Given the description of an element on the screen output the (x, y) to click on. 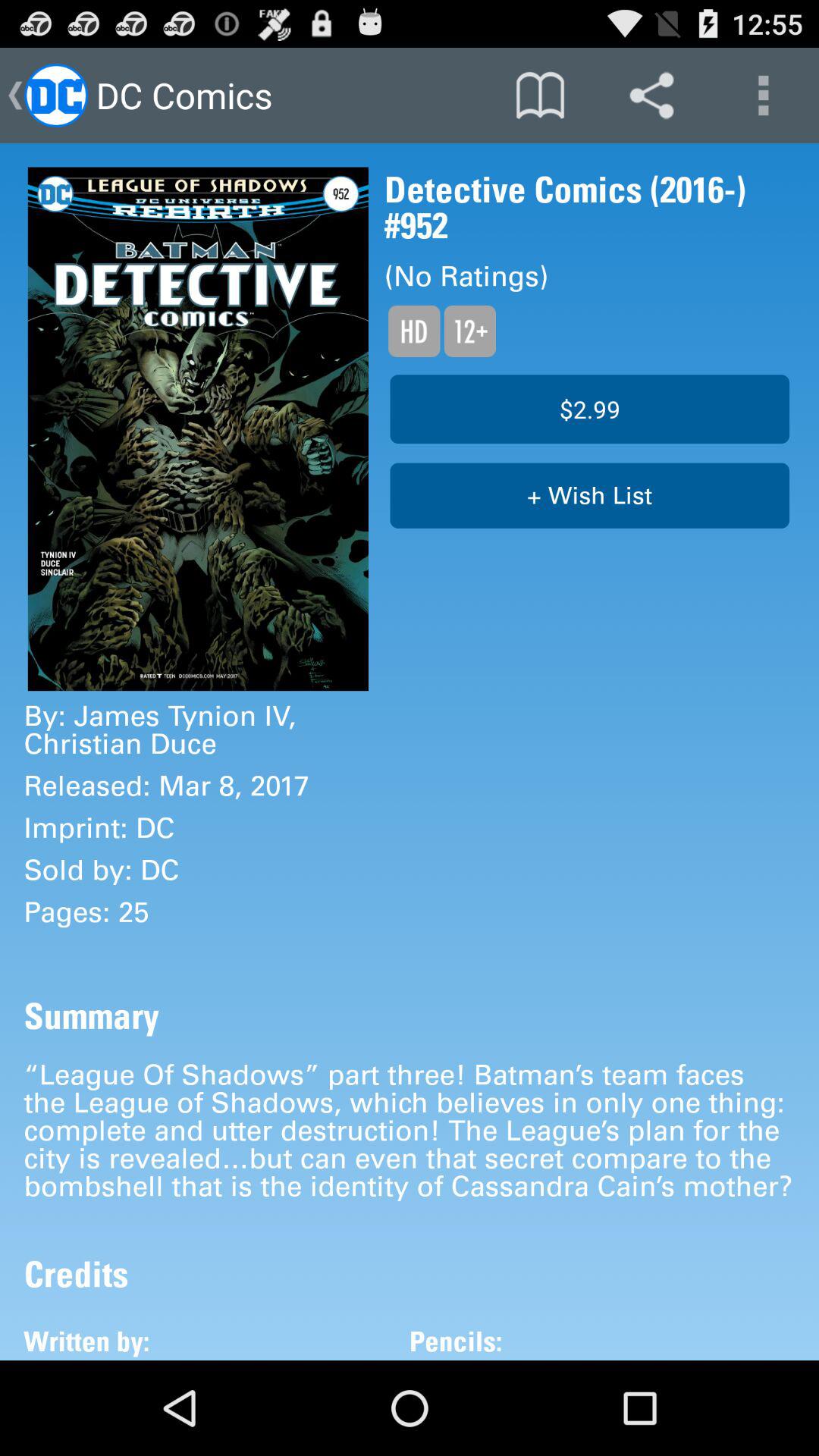
select icon above the $2.99 (469, 331)
